Given the description of an element on the screen output the (x, y) to click on. 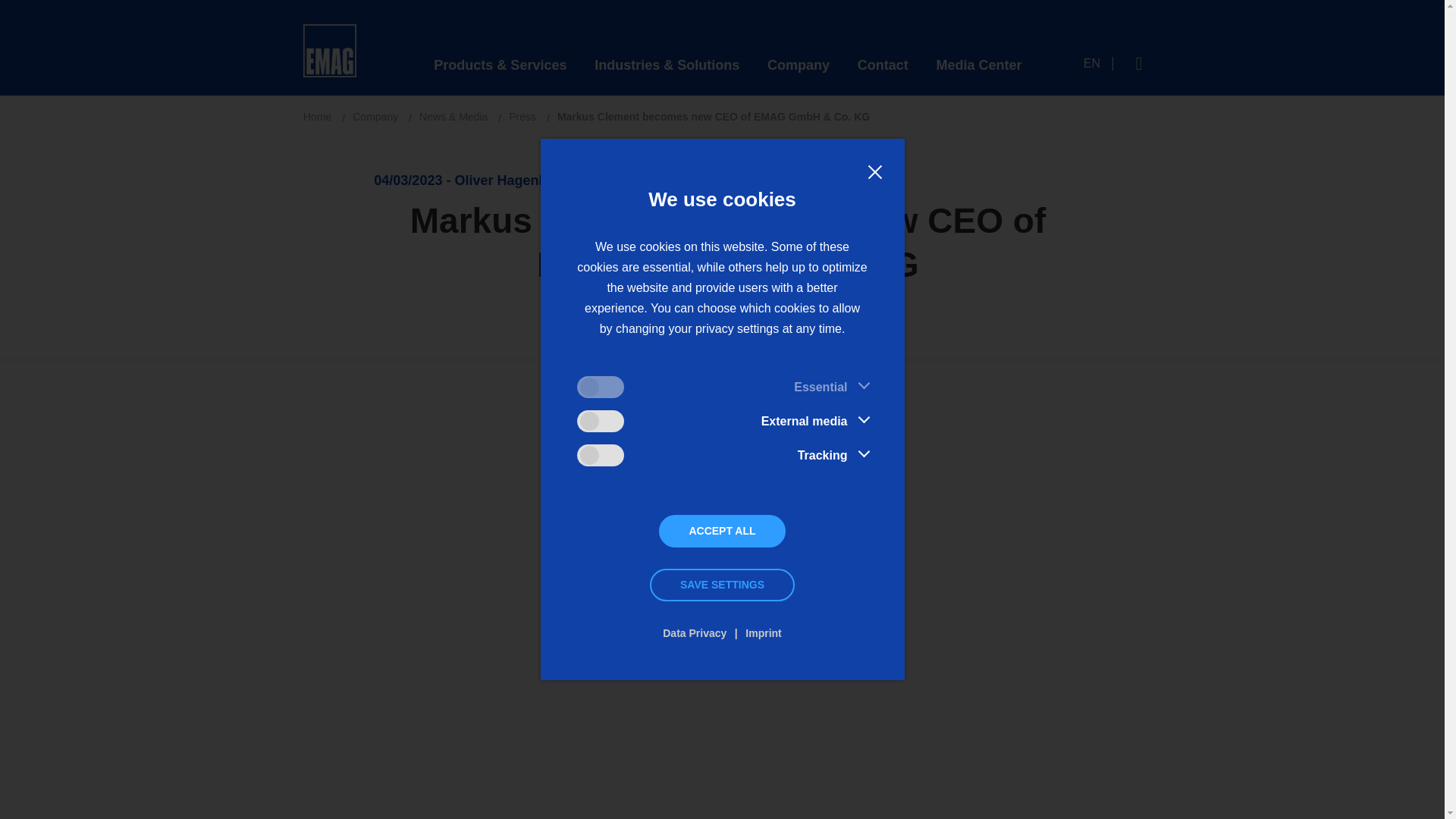
Company (798, 65)
Media Center (979, 65)
Open search (1139, 62)
EN (1098, 63)
Contact (882, 65)
